Given the description of an element on the screen output the (x, y) to click on. 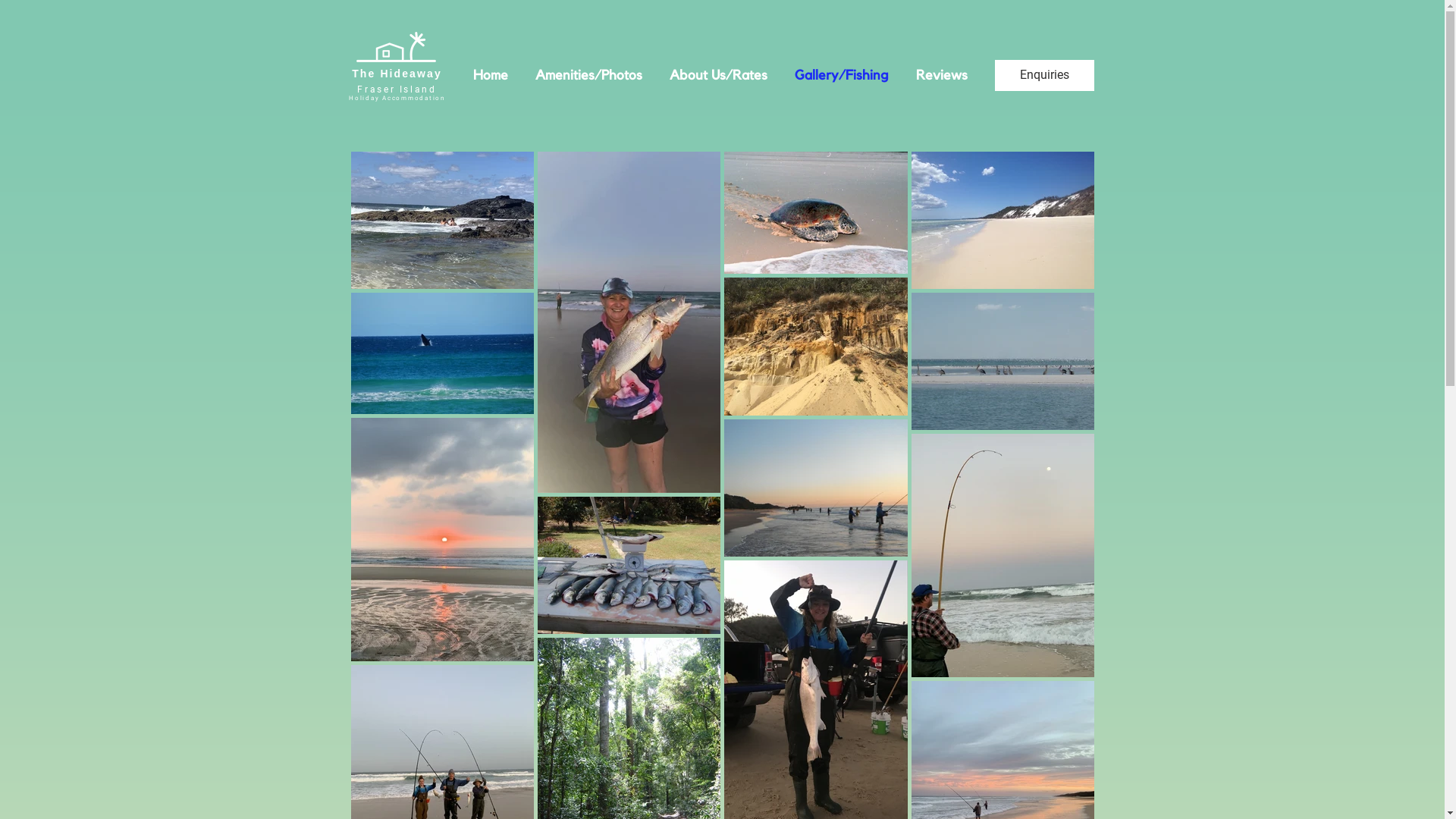
Amenities/Photos Element type: text (590, 75)
About Us/Rates Element type: text (720, 75)
Reviews Element type: text (942, 75)
Gallery/Fishing Element type: text (842, 75)
Enquiries Element type: text (1044, 75)
Fraser Island Element type: text (396, 89)
Home Element type: text (492, 75)
The Hideaway Element type: text (396, 73)
